Given the description of an element on the screen output the (x, y) to click on. 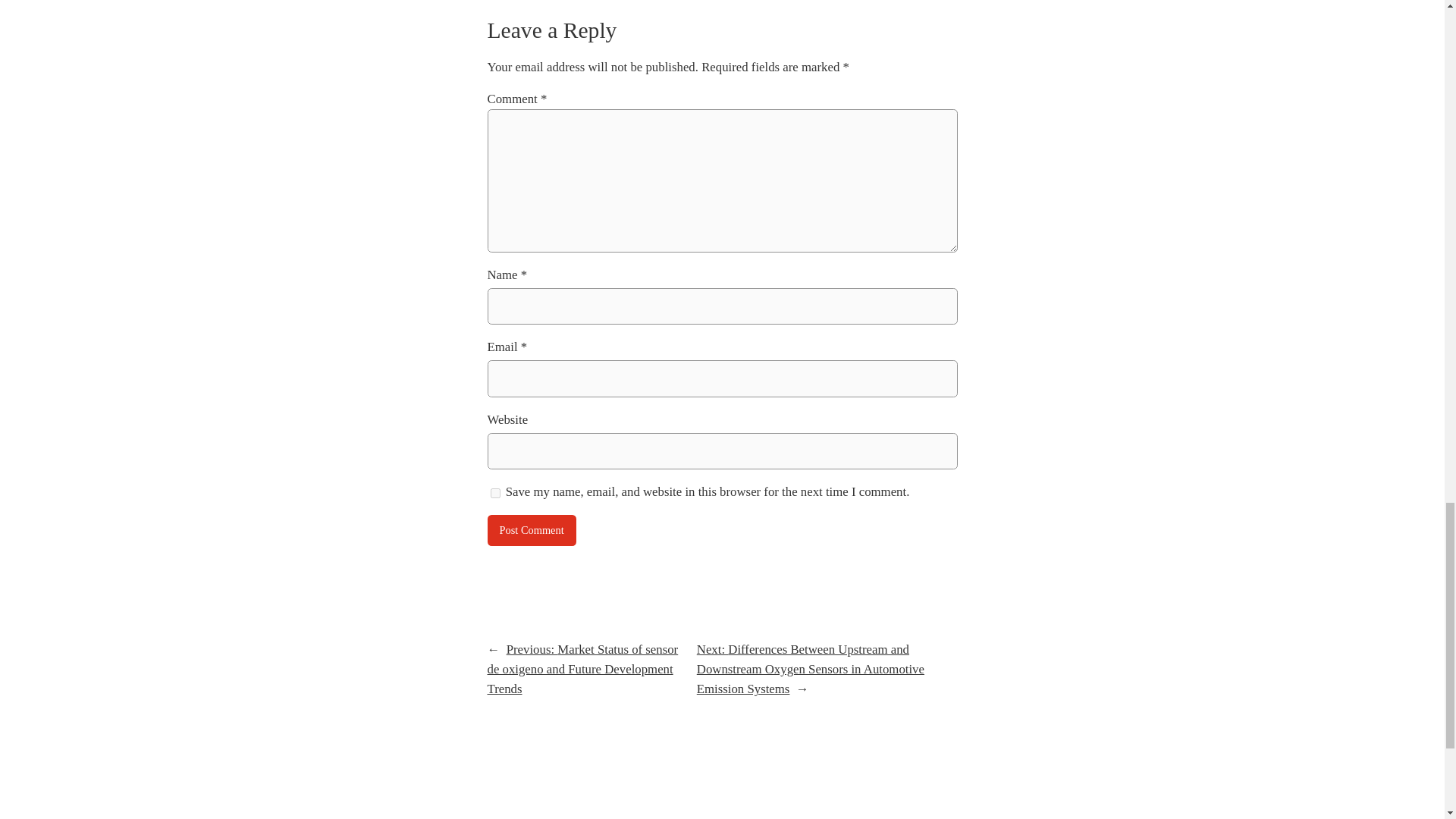
Post Comment (530, 531)
Post Comment (530, 531)
